Given the description of an element on the screen output the (x, y) to click on. 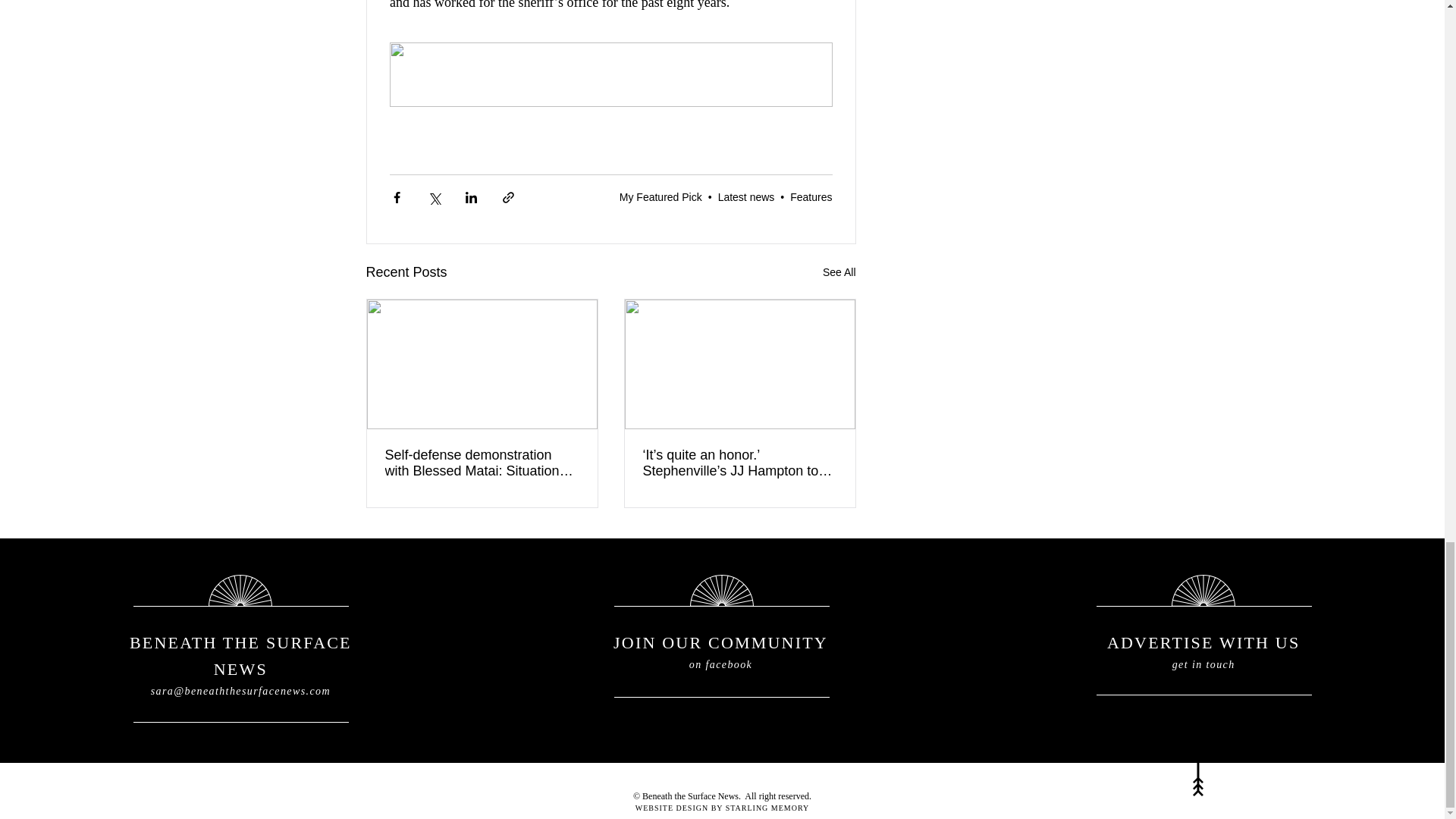
Latest news (745, 196)
get in touch (1203, 664)
My Featured Pick (660, 196)
See All (839, 272)
Features (810, 196)
on facebook (720, 664)
